Given the description of an element on the screen output the (x, y) to click on. 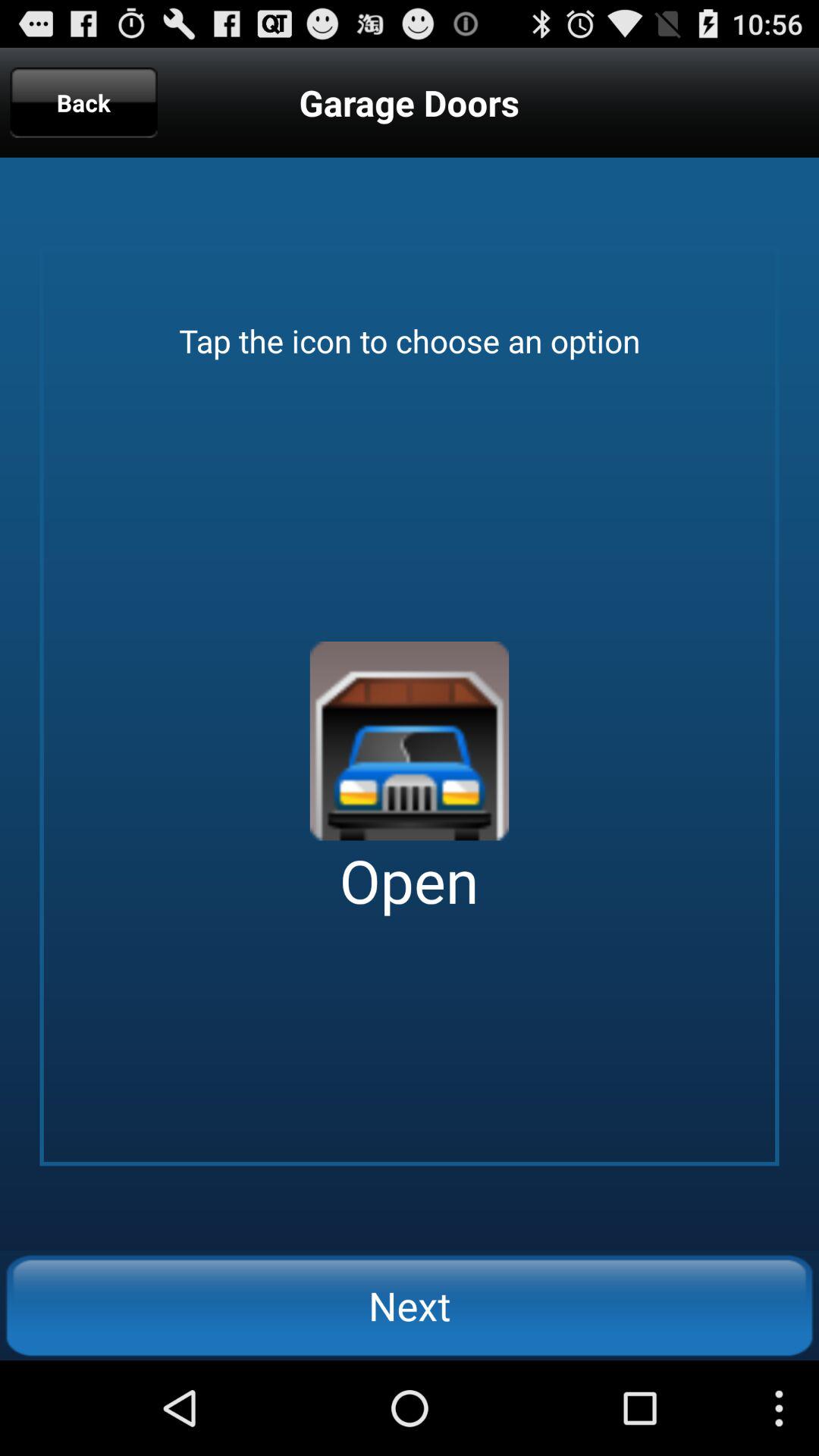
turn on the next icon (409, 1305)
